Given the description of an element on the screen output the (x, y) to click on. 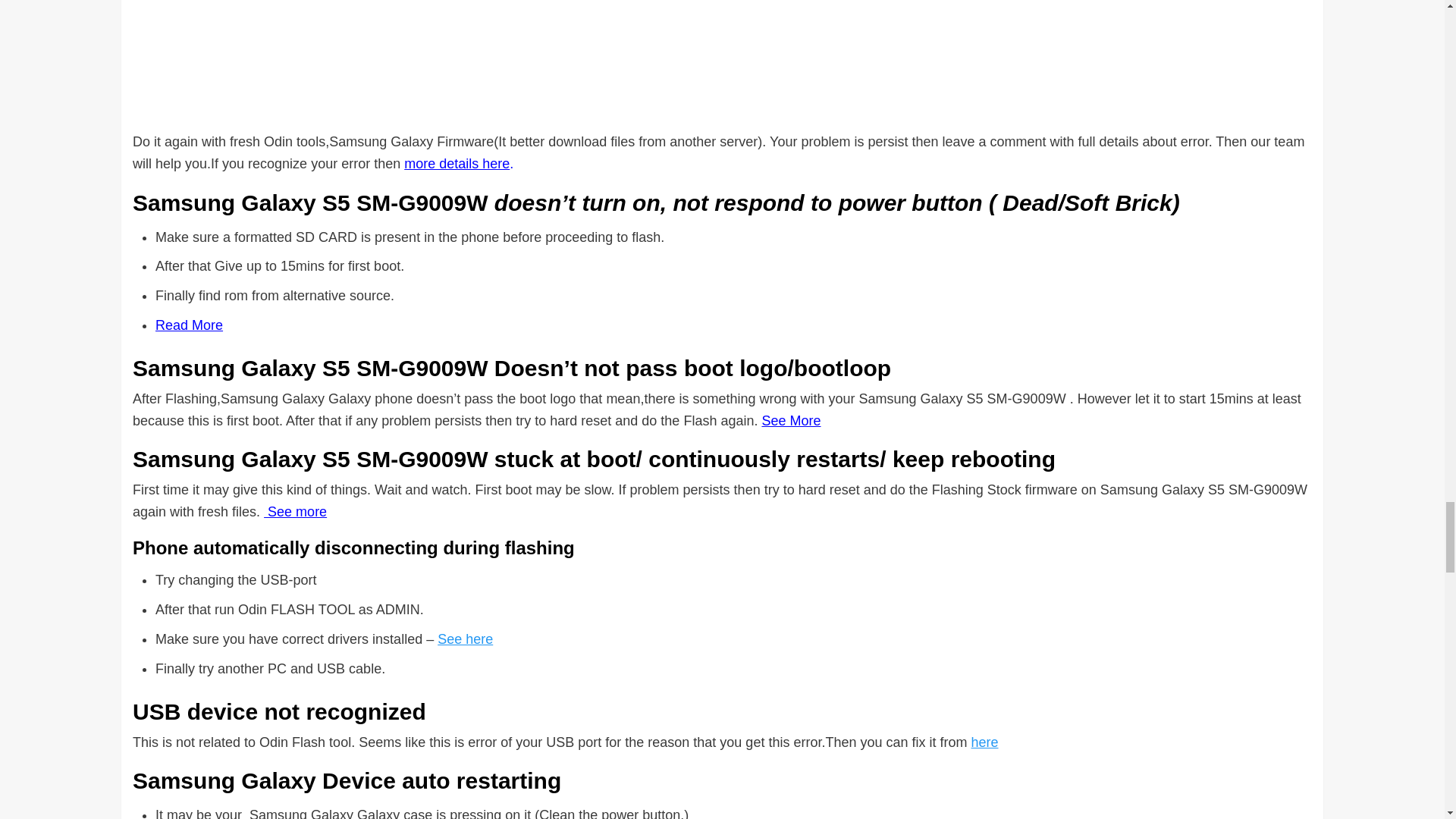
more details here (456, 163)
See here (465, 639)
Read More (188, 324)
See More (791, 420)
See more (294, 511)
here (984, 742)
